Given the description of an element on the screen output the (x, y) to click on. 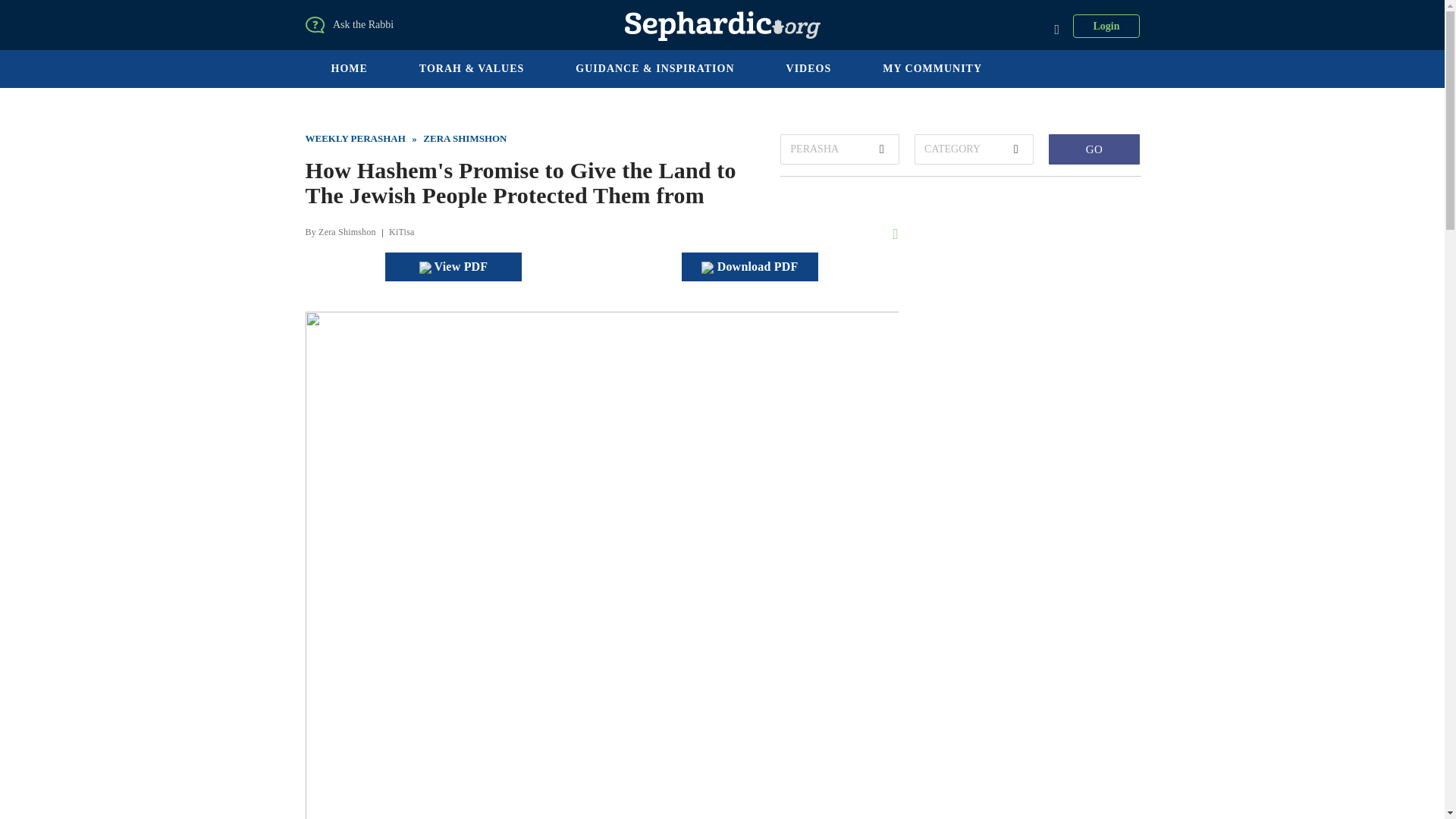
Login (1105, 25)
HOME (348, 68)
Ask the Rabbi (359, 23)
Go (1094, 149)
